Given the description of an element on the screen output the (x, y) to click on. 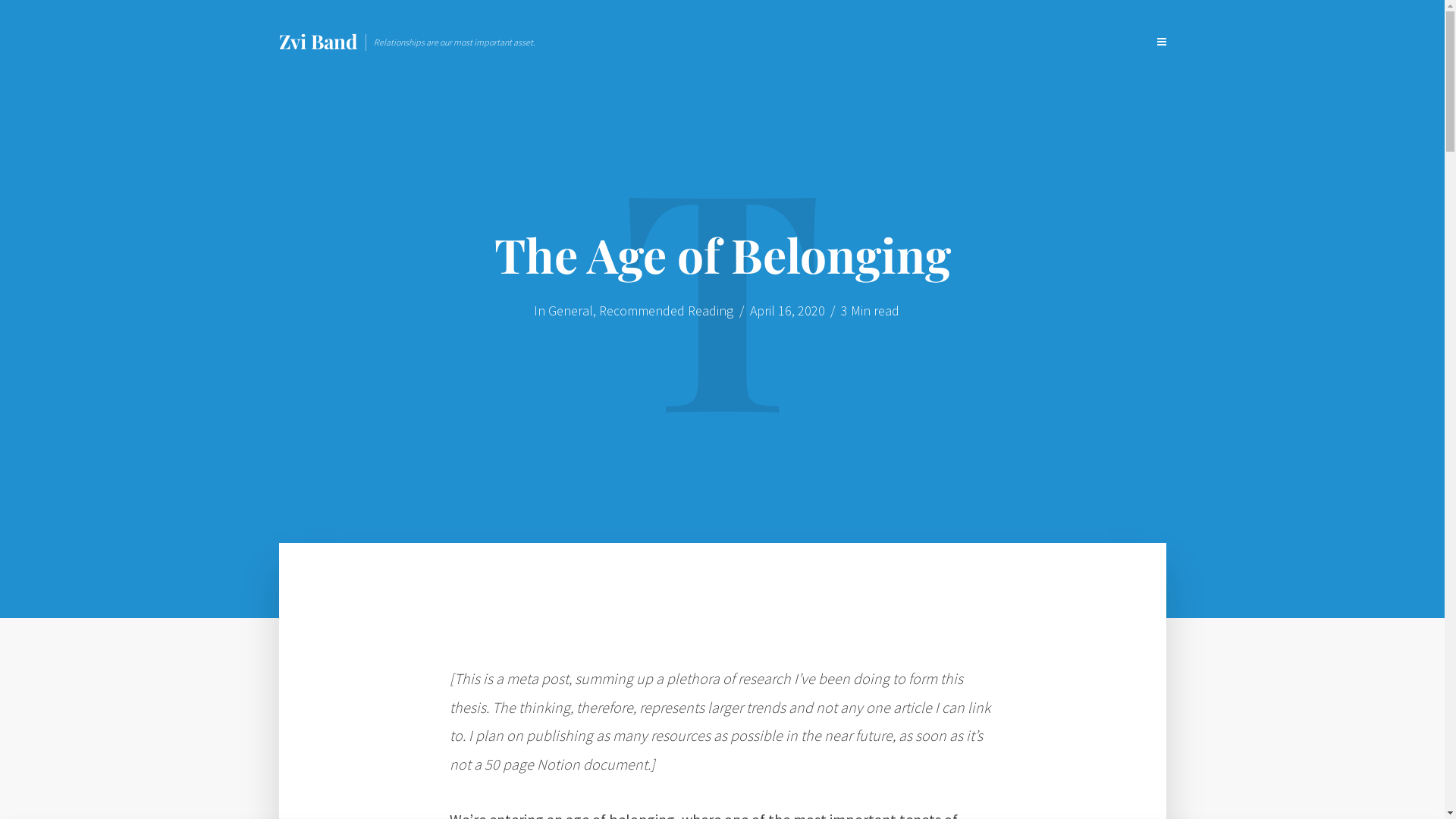
Zvi Band Element type: text (318, 41)
General Element type: text (570, 311)
Recommended Reading Element type: text (666, 311)
